Given the description of an element on the screen output the (x, y) to click on. 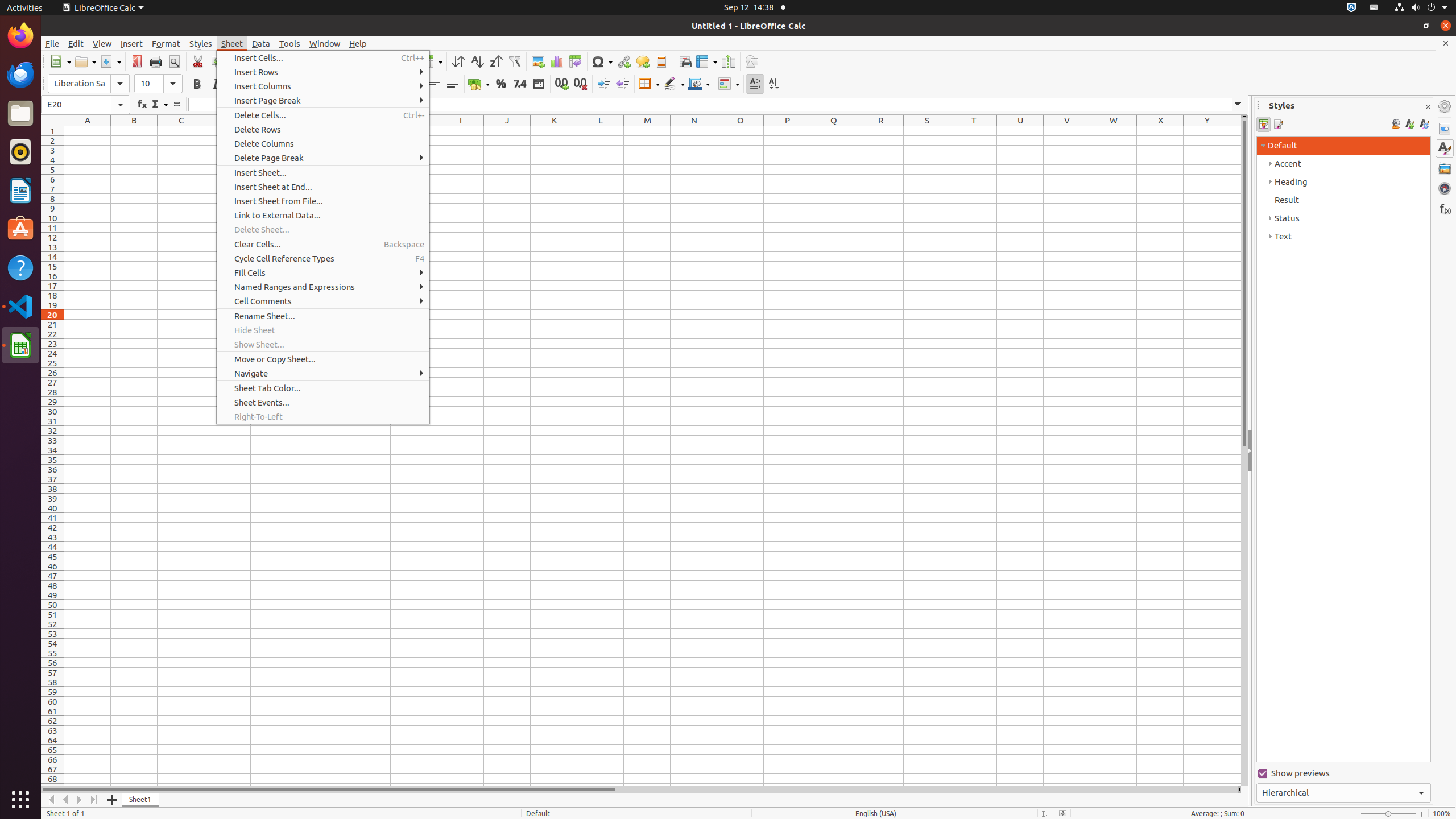
Move Right Element type: push-button (79, 799)
Y1 Element type: table-cell (1206, 130)
Split Window Element type: push-button (727, 61)
Data Element type: menu (260, 43)
Cell Comments Element type: menu (322, 301)
